Given the description of an element on the screen output the (x, y) to click on. 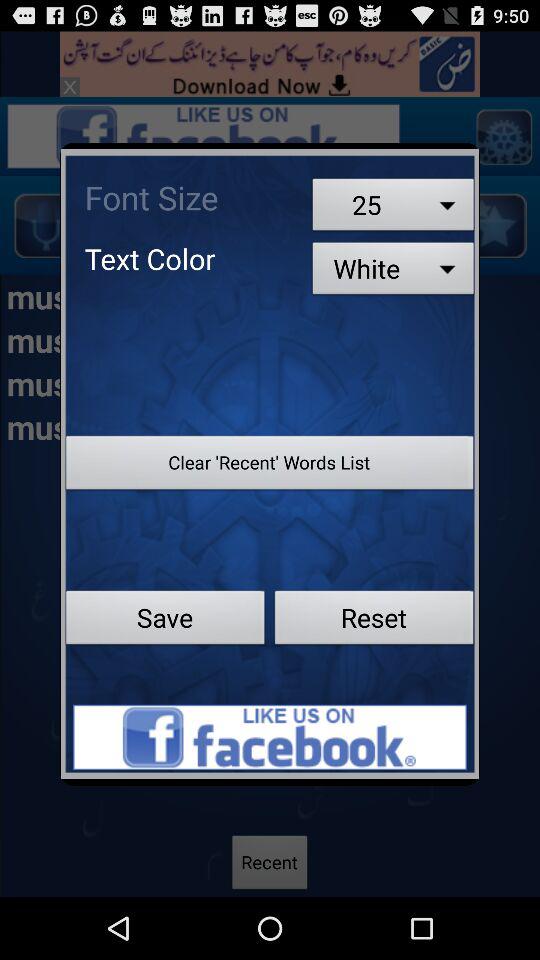
click on facebook (269, 737)
